Given the description of an element on the screen output the (x, y) to click on. 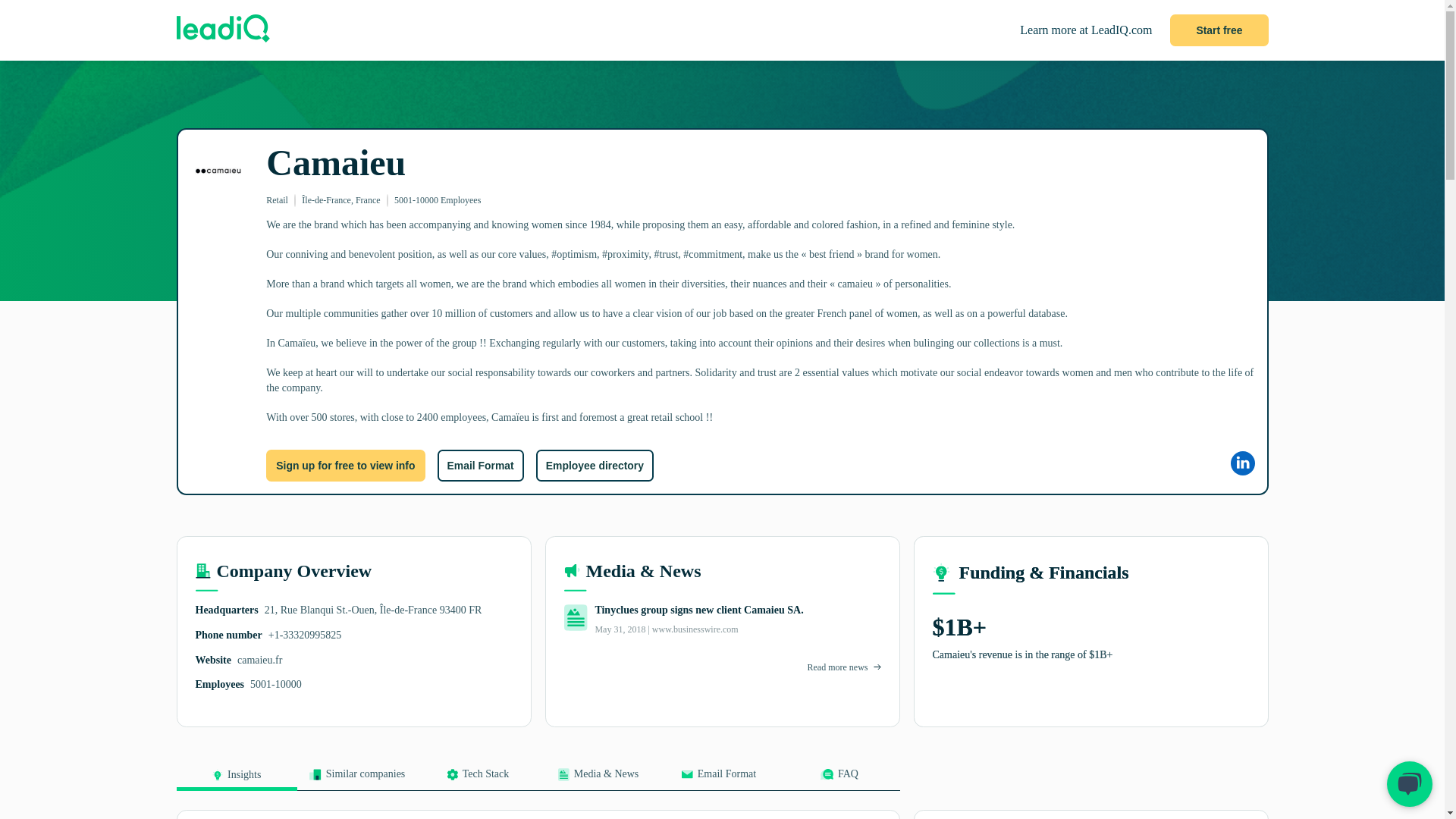
Sign up for free to view info (345, 465)
Email Format (718, 778)
FAQ (838, 778)
camaieu.fr (259, 659)
Start free (1219, 29)
Email Format (479, 465)
Insights (236, 780)
Similar companies (357, 778)
Tech Stack (476, 778)
Learn more at LeadIQ.com (1085, 29)
Employee directory (594, 465)
Read more news (837, 666)
